Given the description of an element on the screen output the (x, y) to click on. 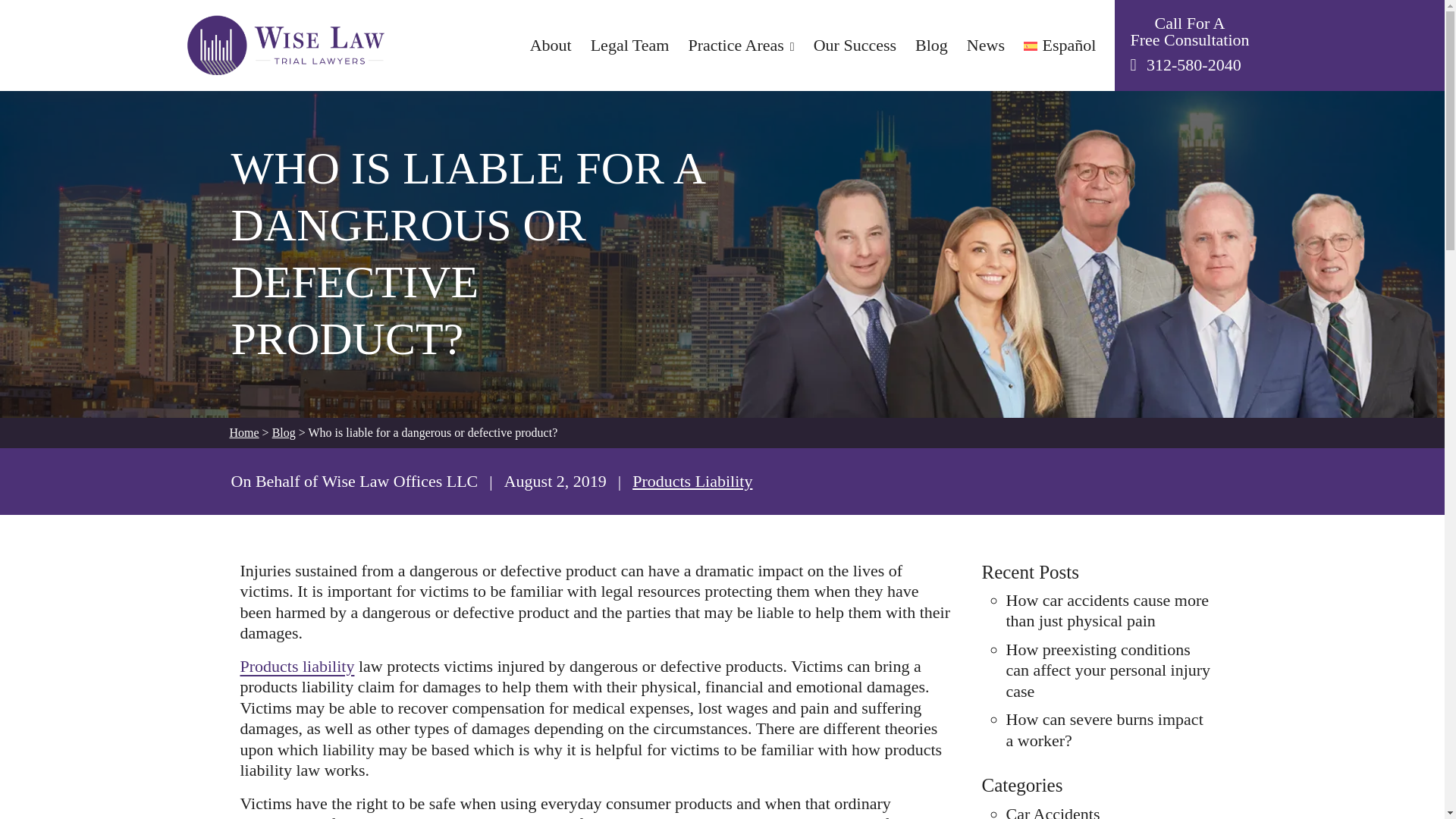
Our Success (854, 45)
Products Liability (691, 480)
Car Accidents (1052, 811)
312-580-2040 (1194, 64)
Blog (283, 431)
News (985, 45)
Go to Wise Law Offices LLC. (243, 431)
Home (243, 431)
How car accidents cause more than just physical pain (1107, 610)
Practice Areas (740, 45)
How can severe burns impact a worker? (1104, 730)
About (550, 45)
Products liability (296, 665)
Blog (931, 45)
Legal Team (630, 45)
